Given the description of an element on the screen output the (x, y) to click on. 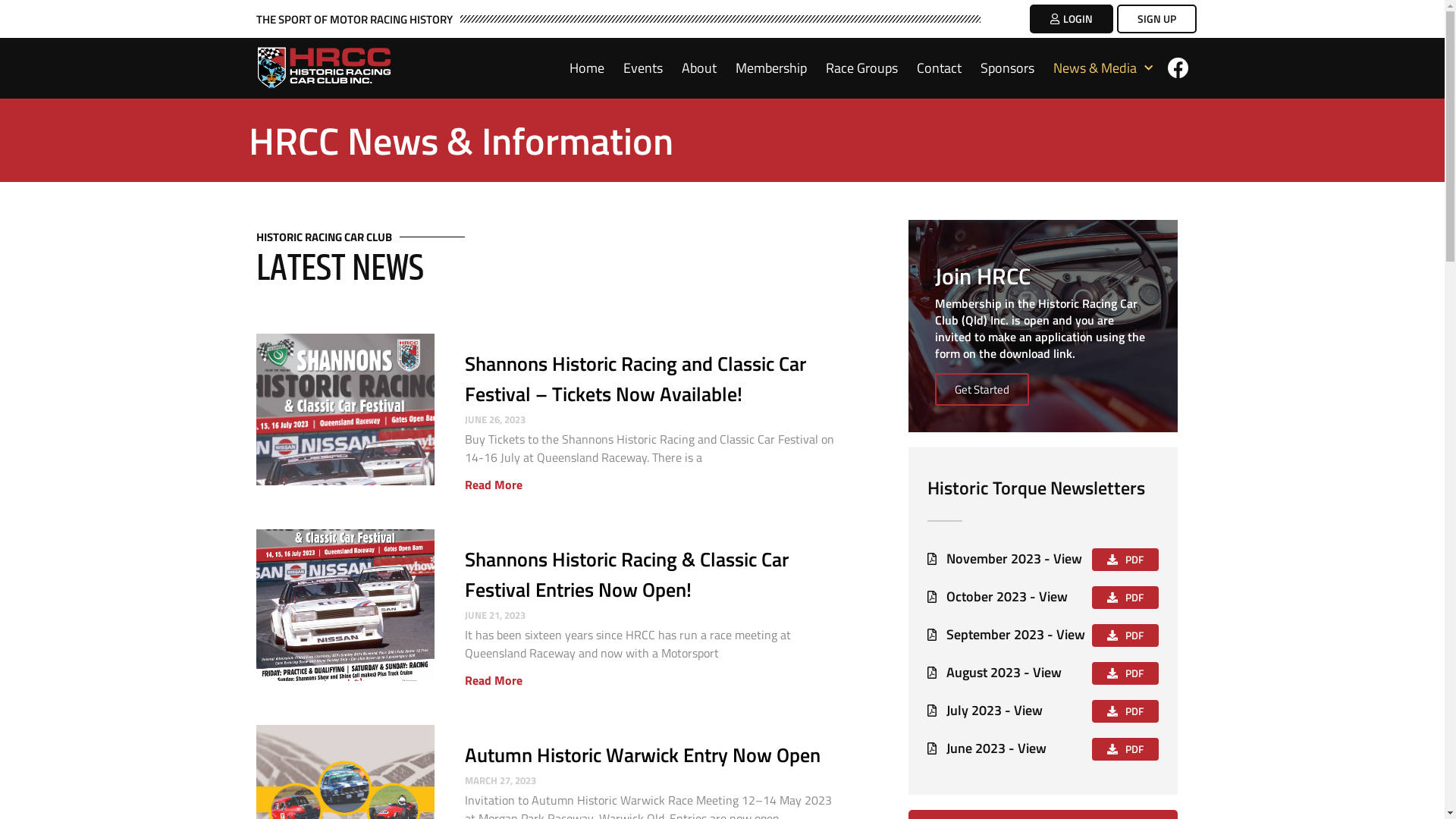
Events Element type: text (642, 67)
November 2023 - View Element type: text (1004, 558)
SIGN UP Element type: text (1155, 18)
PDF Element type: text (1125, 673)
PDF Element type: text (1125, 748)
September 2023 - View Element type: text (1006, 634)
LOGIN Element type: text (1071, 18)
PDF Element type: text (1125, 635)
PDF Element type: text (1125, 710)
July 2023 - View Element type: text (984, 710)
About Element type: text (697, 67)
Get Started Element type: text (982, 389)
October 2023 - View Element type: text (997, 596)
Read More Element type: text (493, 680)
PDF Element type: text (1125, 597)
Contact Element type: text (938, 67)
News & Media Element type: text (1101, 67)
Autumn Historic Warwick Entry Now Open Element type: text (642, 754)
Sponsors Element type: text (1006, 67)
Membership Element type: text (770, 67)
PDF Element type: text (1125, 559)
June 2023 - View Element type: text (986, 748)
August 2023 - View Element type: text (994, 672)
Home Element type: text (585, 67)
Read More Element type: text (493, 484)
Race Groups Element type: text (861, 67)
